Given the description of an element on the screen output the (x, y) to click on. 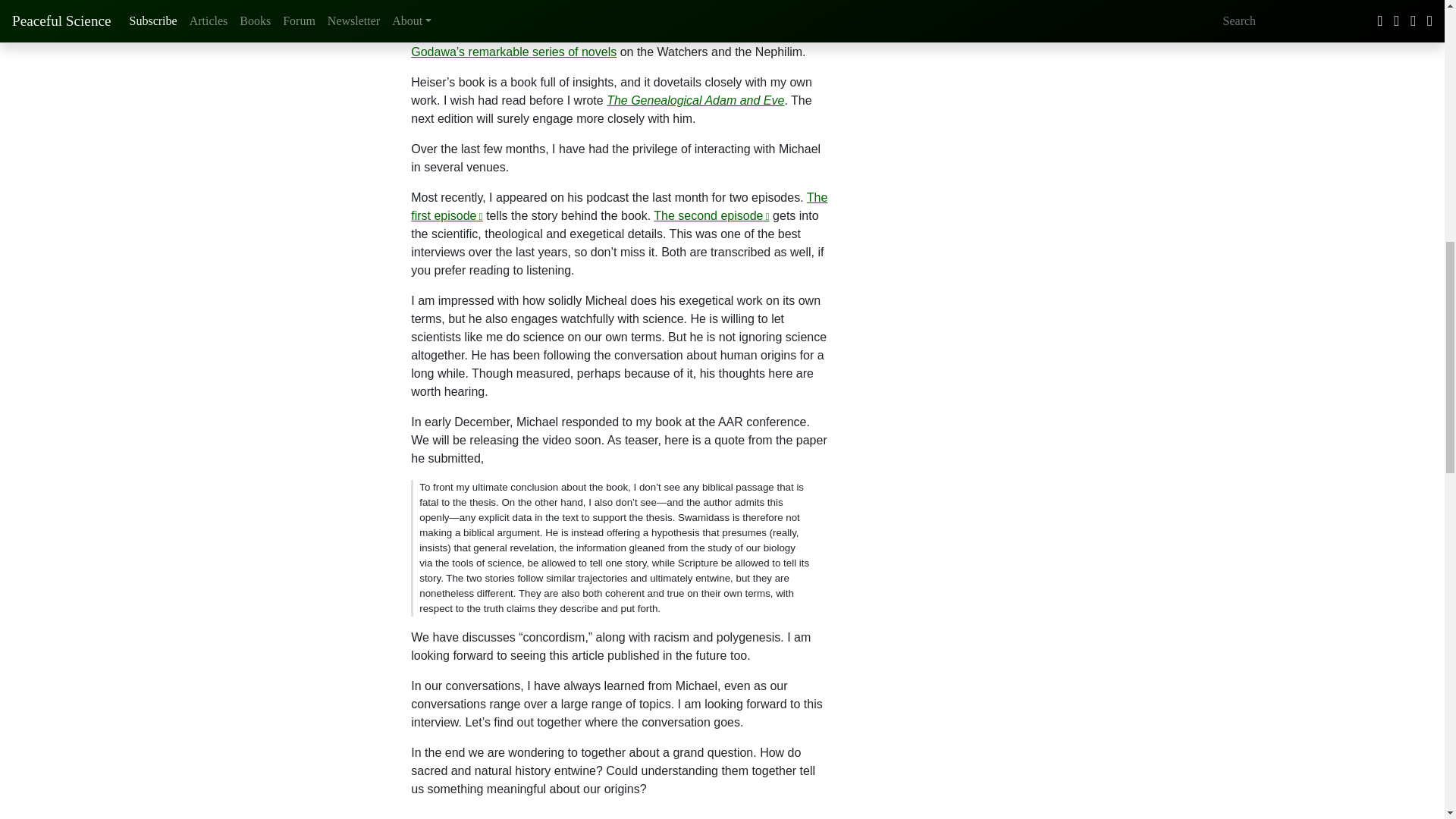
The Unseen Realm (595, 15)
The Genealogical Adam and Eve (695, 100)
The second episode (710, 215)
The first episode (618, 205)
